Given the description of an element on the screen output the (x, y) to click on. 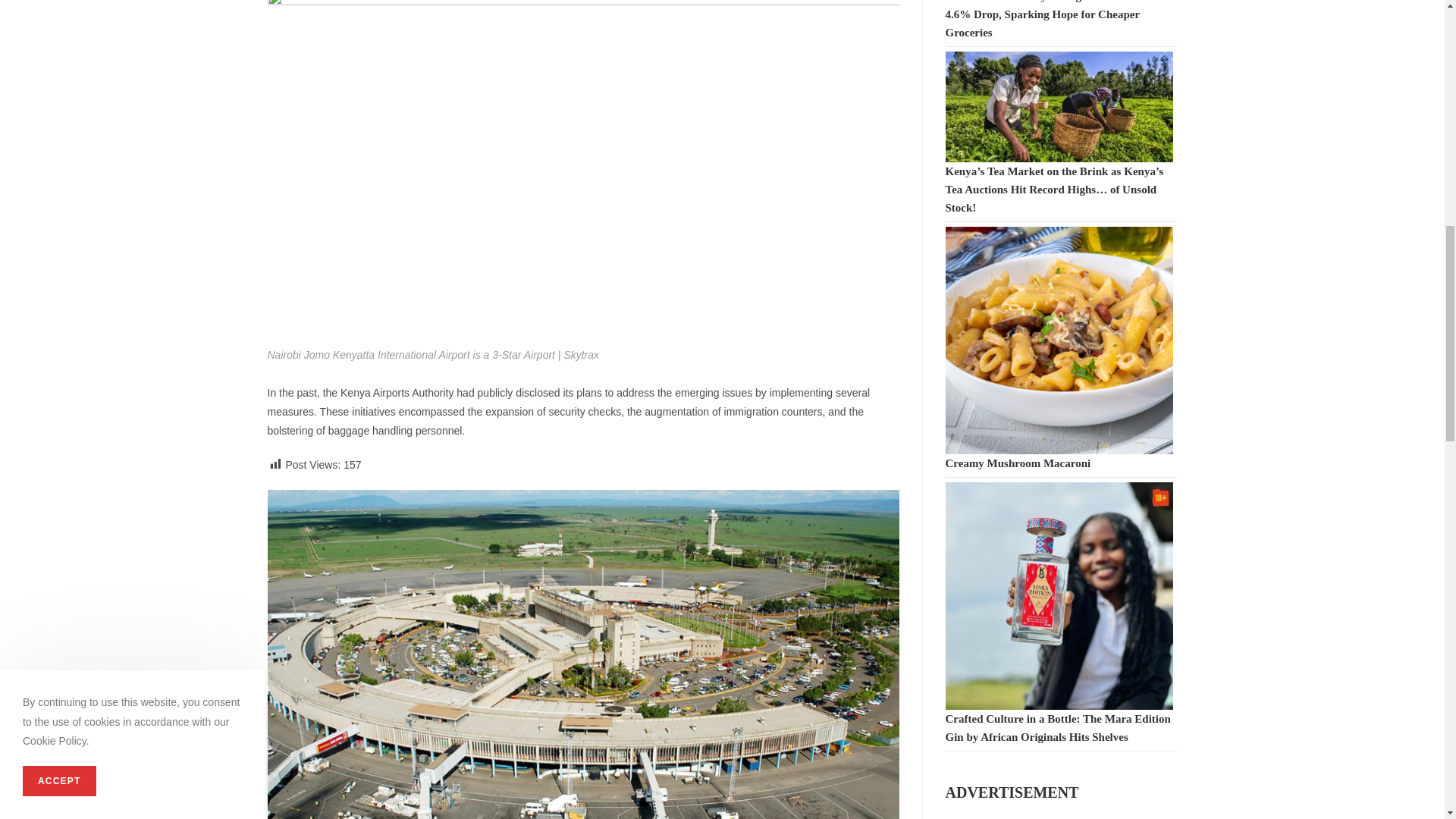
Creamy Mushroom Macaroni (1017, 463)
